Given the description of an element on the screen output the (x, y) to click on. 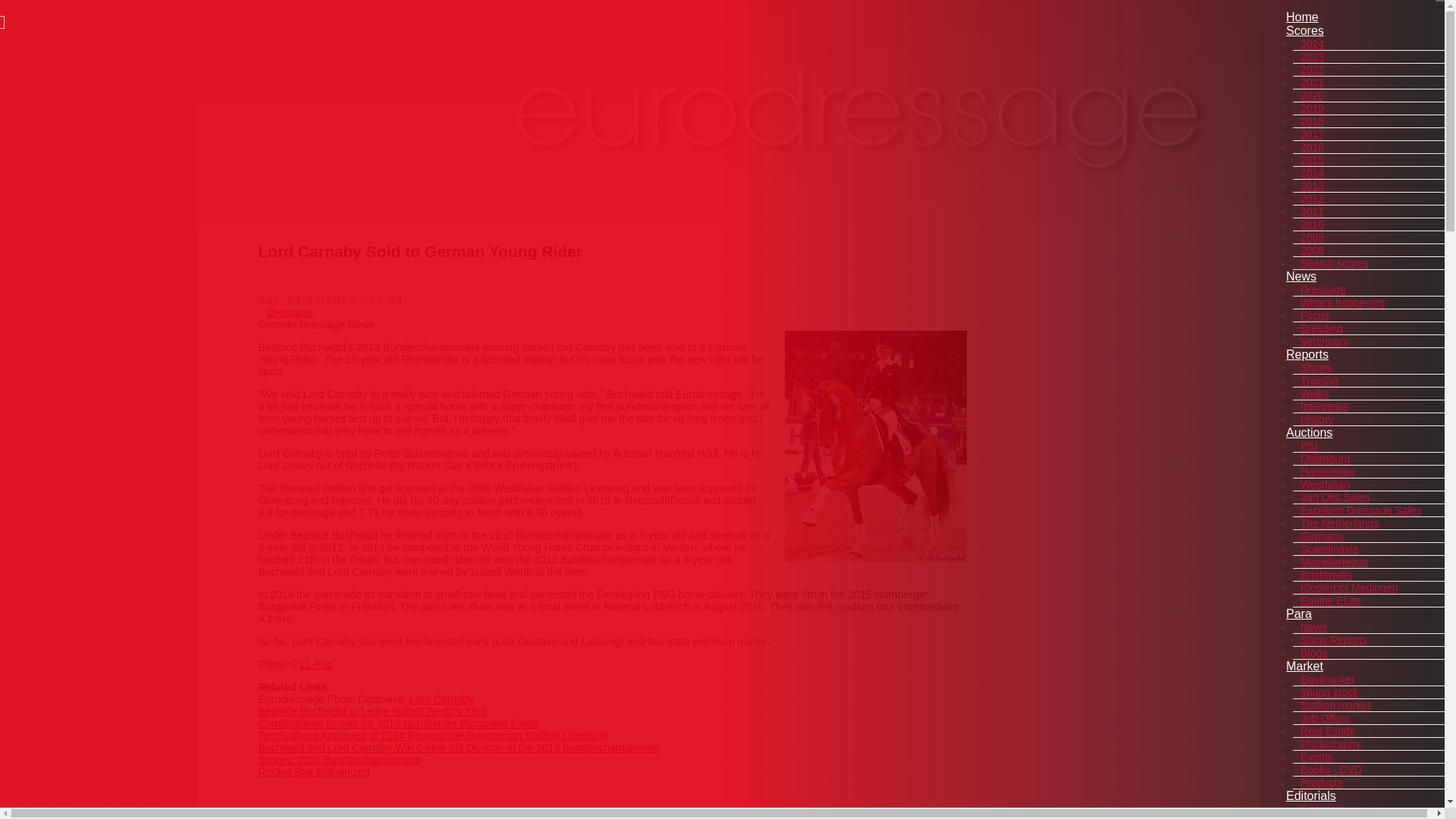
Veterinary (1323, 340)
News (1300, 276)
Breeding (1321, 328)
Training (1318, 379)
History (1316, 419)
Auctions (1308, 431)
Focus (1314, 315)
Scores (1304, 30)
2008 (1312, 249)
Oldenburg (1324, 458)
